Given the description of an element on the screen output the (x, y) to click on. 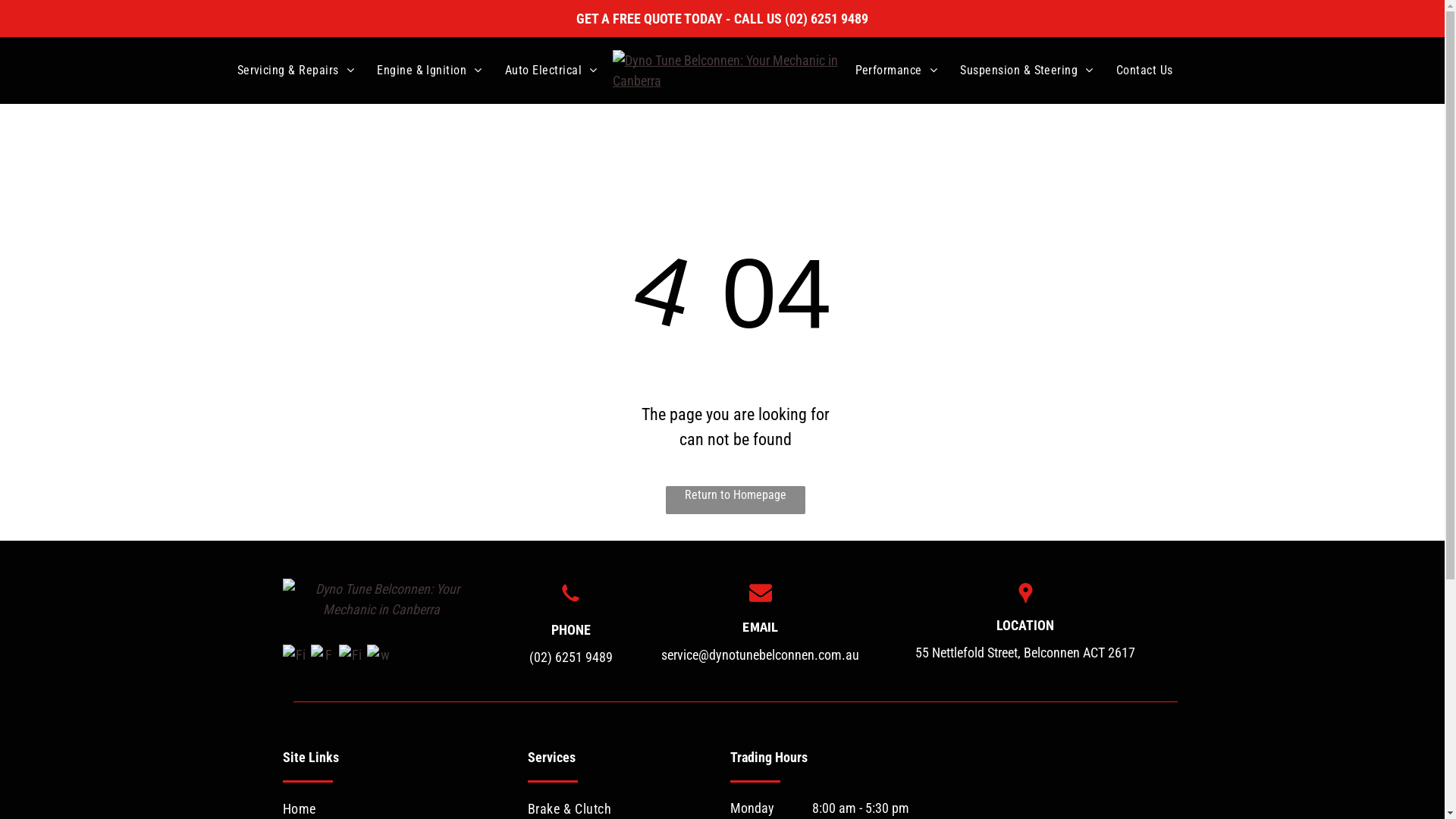
service@dynotunebelconnen.com.au Element type: text (760, 654)
www.localsearch.com.au Element type: hover (379, 656)
Auto Electrical Element type: text (550, 70)
Engine & Ignition Element type: text (429, 70)
Servicing & Repairs Element type: text (295, 70)
Return to Homepage Element type: text (735, 500)
Contact Us Element type: text (1144, 70)
(02) 6251 9489 Element type: text (570, 657)
55 Nettlefold Street, Belconnen ACT 2617 Element type: text (1025, 652)
Find Us On GBP Element type: hover (350, 656)
Performance Element type: text (895, 70)
Find Us On Facebook Element type: hover (294, 656)
Dyno Tune Belconnen: Your Mechanic in Canberra Element type: hover (380, 601)
(02) 6251 9489 Element type: text (826, 18)
Suspension & Steering Element type: text (1026, 70)
Follow Us On Instagram Element type: hover (322, 656)
